Given the description of an element on the screen output the (x, y) to click on. 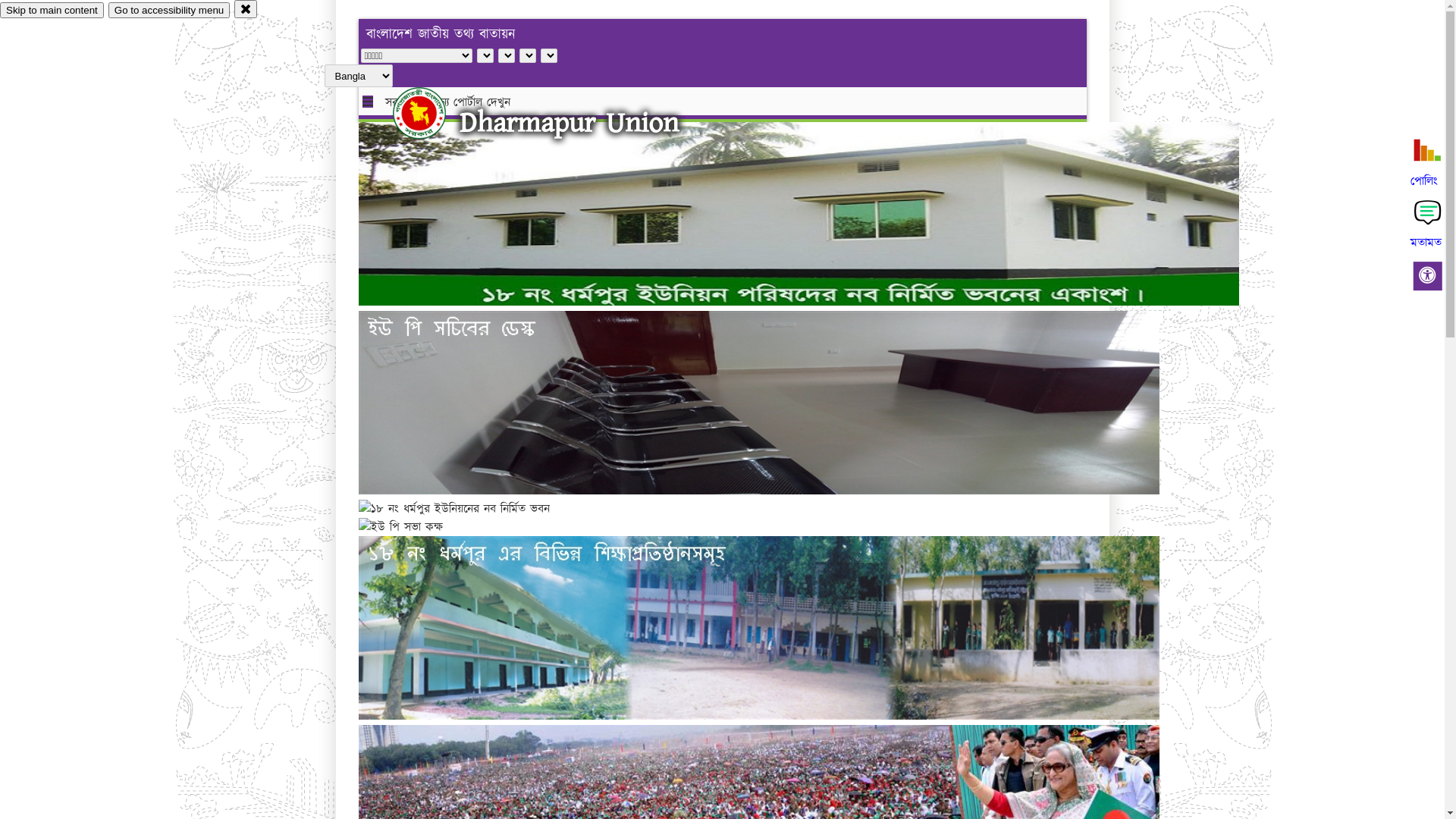
close Element type: hover (245, 9)

                
             Element type: hover (431, 112)
Go to accessibility menu Element type: text (168, 10)
Skip to main content Element type: text (51, 10)
Dharmapur Union Element type: text (568, 123)
